Given the description of an element on the screen output the (x, y) to click on. 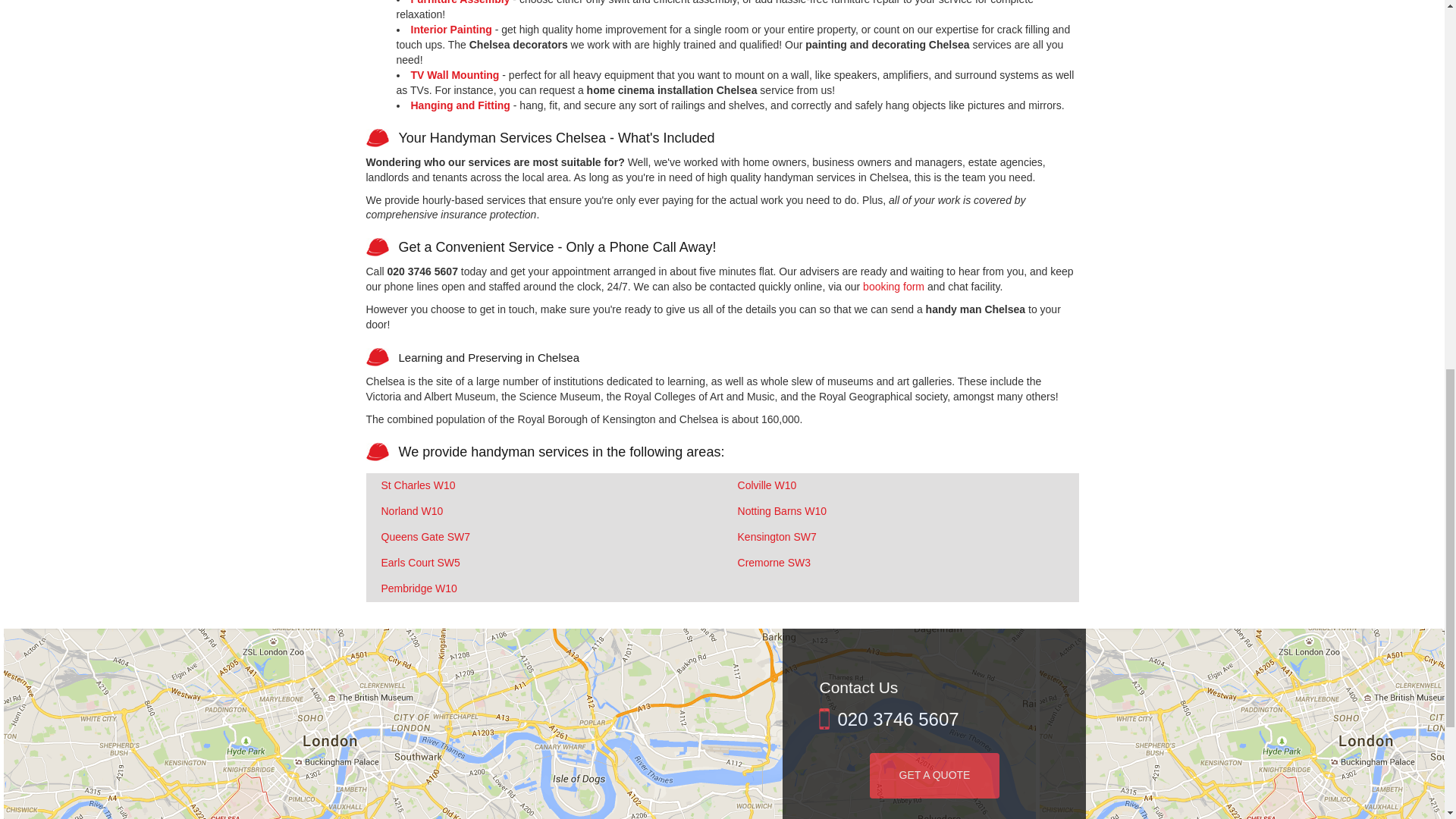
Interior Painting (451, 29)
Hanging and Fitting (460, 105)
Queens Gate SW7 (425, 536)
TV Wall Mounting (454, 74)
Colville W10 (767, 485)
Kensington SW7 (777, 536)
booking form (893, 286)
Furniture Assembly (460, 2)
Notting Barns W10 (782, 510)
Norland W10 (411, 510)
